Given the description of an element on the screen output the (x, y) to click on. 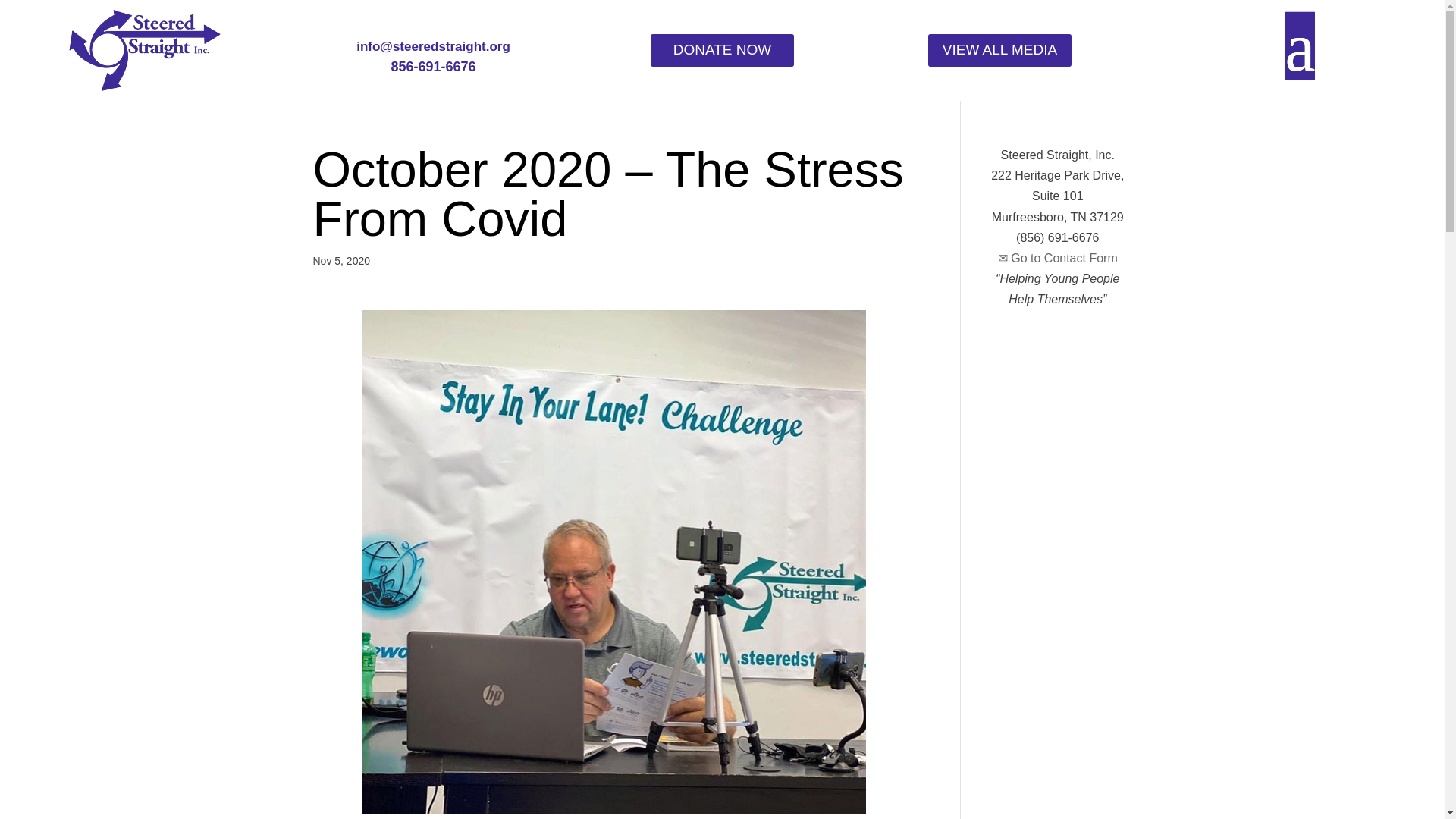
steered-logo copy (143, 49)
DONATE NOW (721, 50)
VIEW ALL MEDIA (999, 50)
856-691-6676 (433, 66)
